Given the description of an element on the screen output the (x, y) to click on. 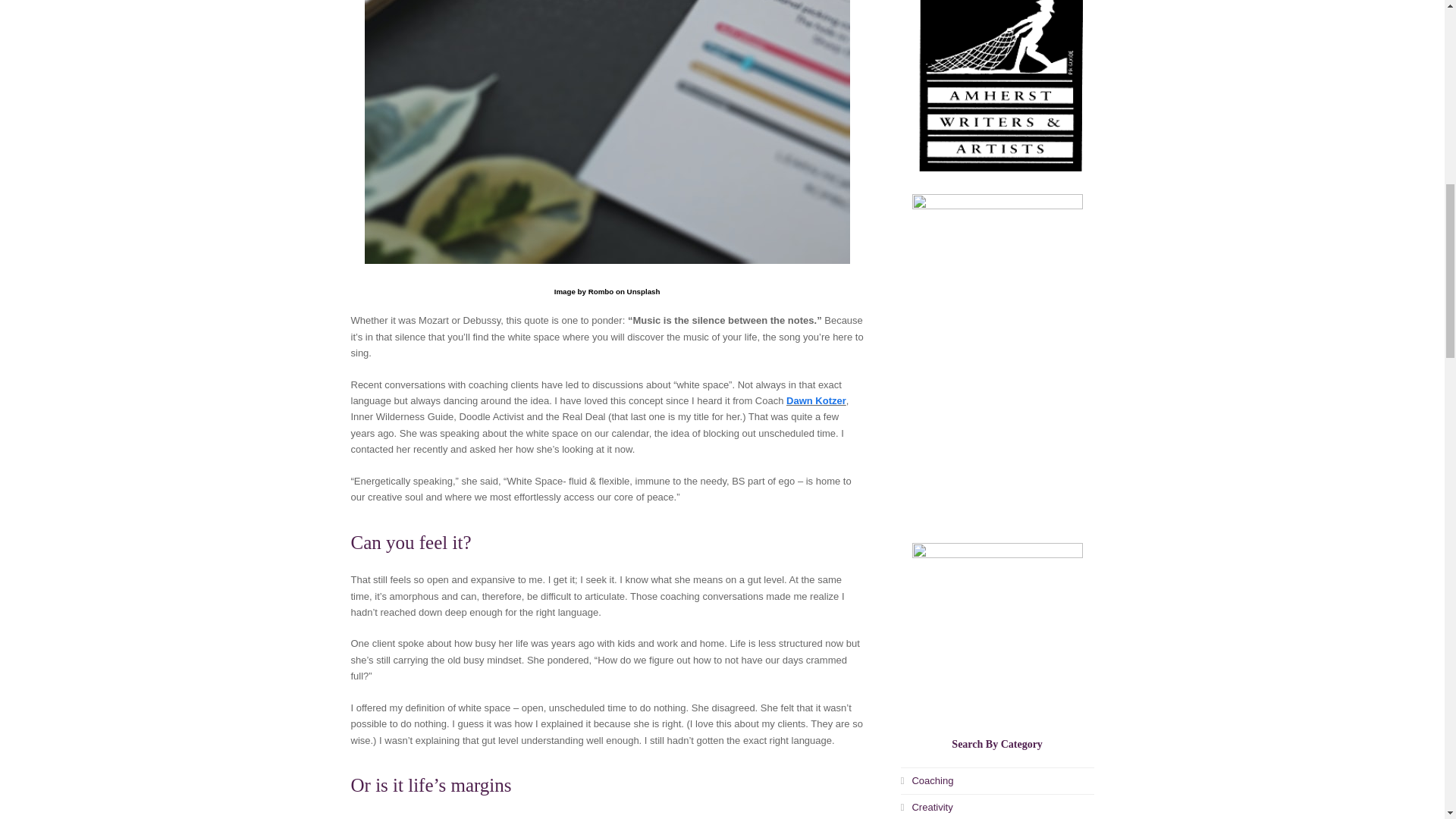
Dawn Kotzer (815, 400)
Coaching (927, 780)
